Given the description of an element on the screen output the (x, y) to click on. 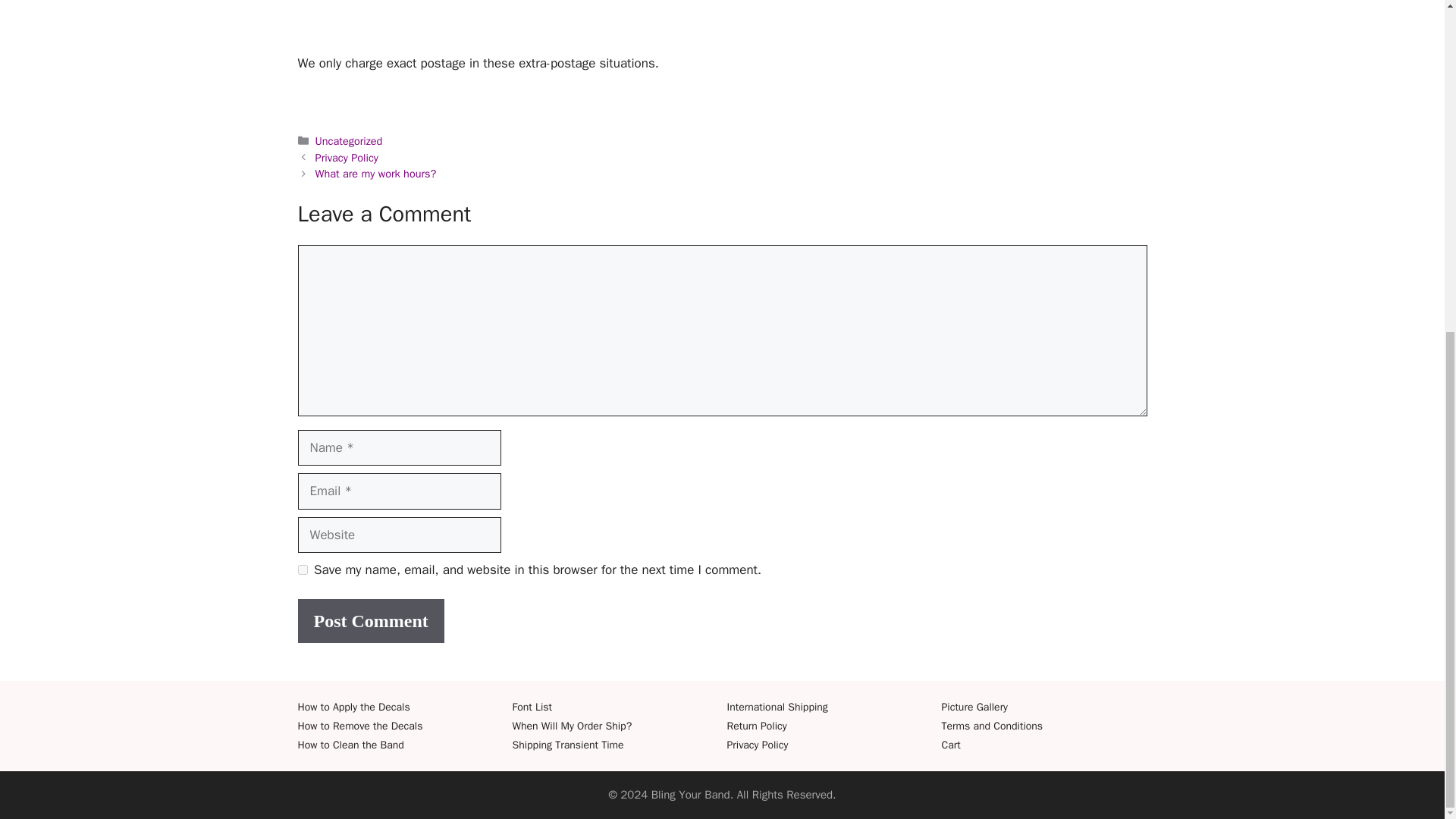
Privacy Policy (346, 157)
Uncategorized (348, 141)
Shipping Transient Time (568, 744)
Post Comment (370, 620)
Cart (951, 744)
Terms and Conditions (992, 725)
yes (302, 569)
What are my work hours? (375, 173)
Picture Gallery (975, 707)
Privacy Policy (756, 744)
How to Remove the Decals (359, 725)
When Will My Order Ship? (571, 725)
How to Clean the Band (350, 744)
Return Policy (756, 725)
International Shipping (776, 707)
